Given the description of an element on the screen output the (x, y) to click on. 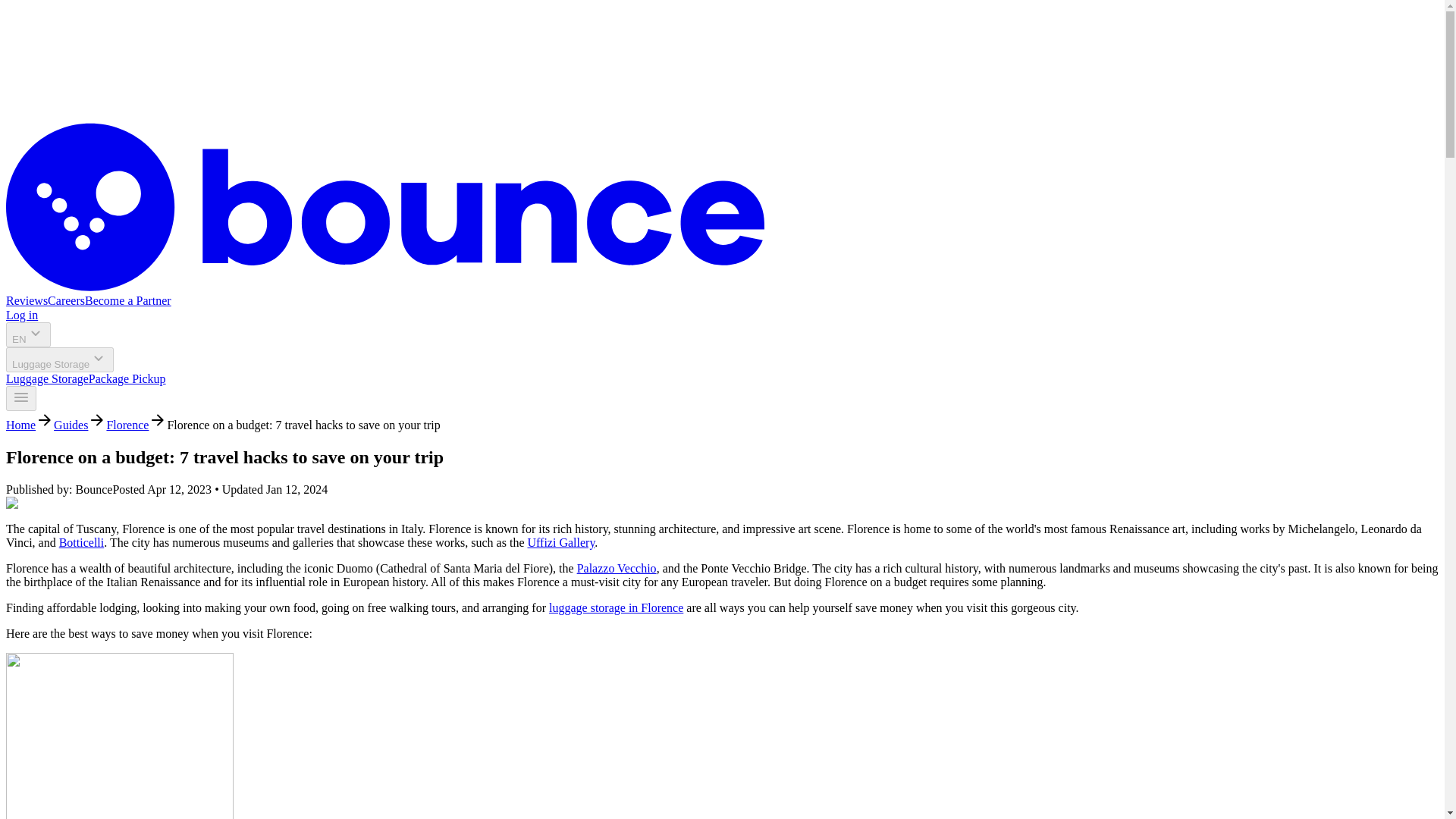
Uffizi Gallery (560, 542)
Guides (70, 424)
EN (27, 334)
Package Pickup (126, 378)
Become a Partner (127, 300)
Luggage Storage (59, 359)
luggage storage in Florence (615, 607)
Log in (21, 314)
Home (19, 424)
Florence (127, 424)
Luggage Storage (46, 378)
Bounce (384, 286)
Careers (66, 300)
Reviews (26, 300)
Botticelli (81, 542)
